Given the description of an element on the screen output the (x, y) to click on. 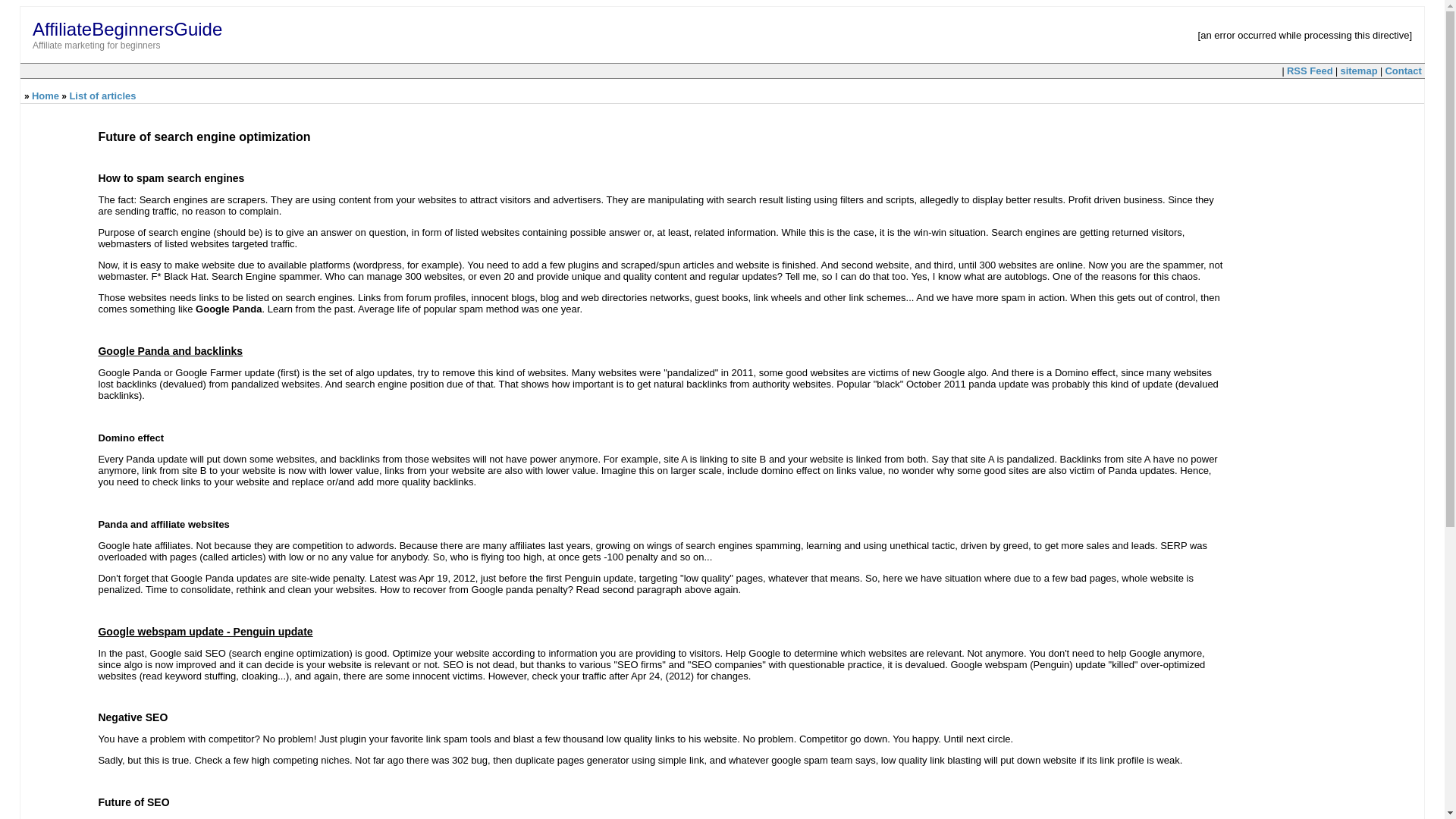
Home (45, 95)
List of articles (101, 95)
Suggestions, questions (1402, 70)
Contact (1402, 70)
RSS Feed: News and latest updates (1310, 70)
RSS Feed (1310, 70)
List of pages on this site (1358, 70)
sitemap (1358, 70)
